Given the description of an element on the screen output the (x, y) to click on. 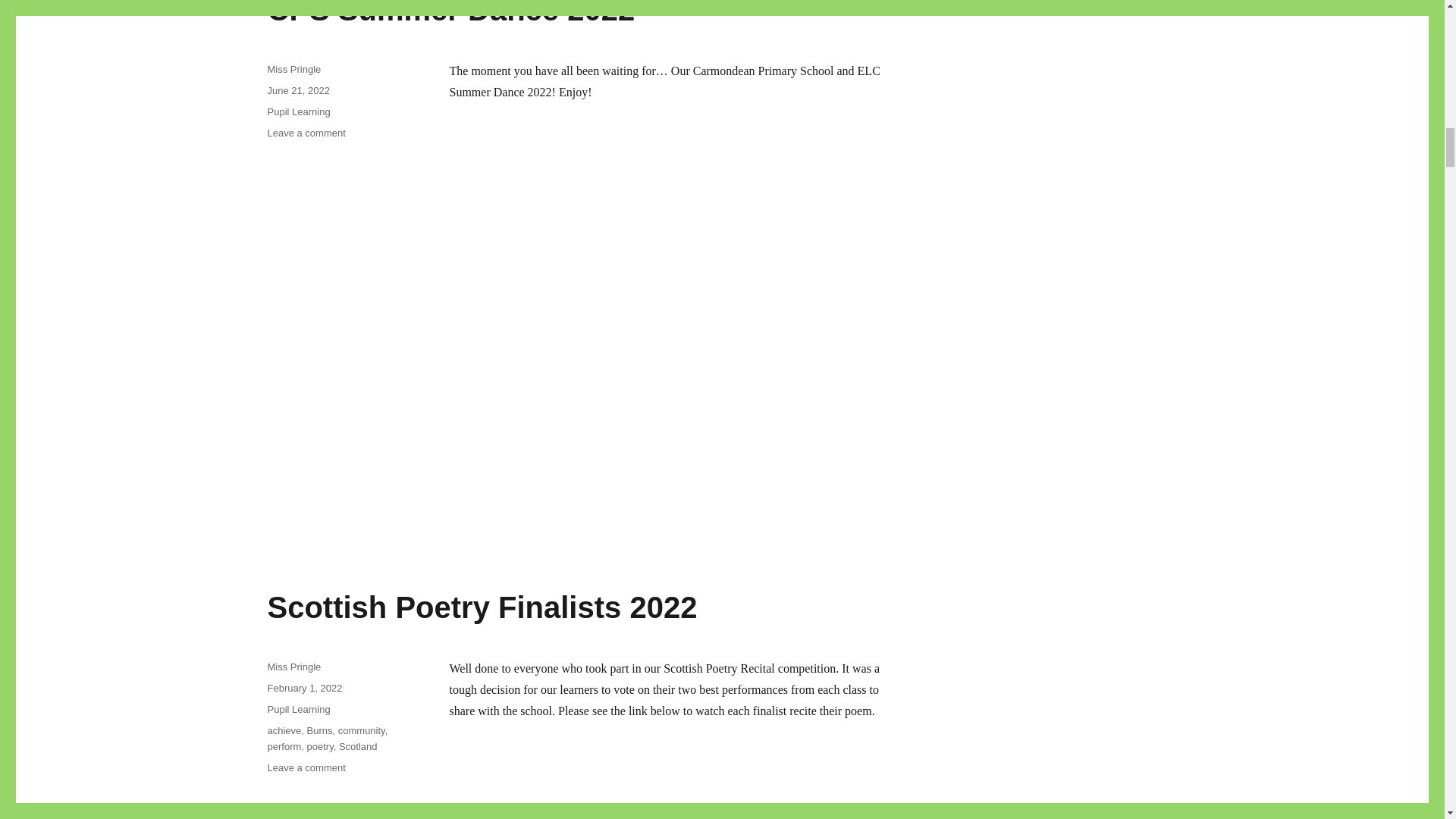
achieve (283, 730)
Carmondean PS Scots Poetry Recitals 2022 (676, 780)
Miss Pringle (293, 666)
poetry (320, 746)
Scottish Poetry Finalists 2022 (305, 132)
perform (481, 607)
CPS Summer Dance 2022 (283, 746)
February 1, 2022 (450, 13)
June 21, 2022 (304, 687)
